Given the description of an element on the screen output the (x, y) to click on. 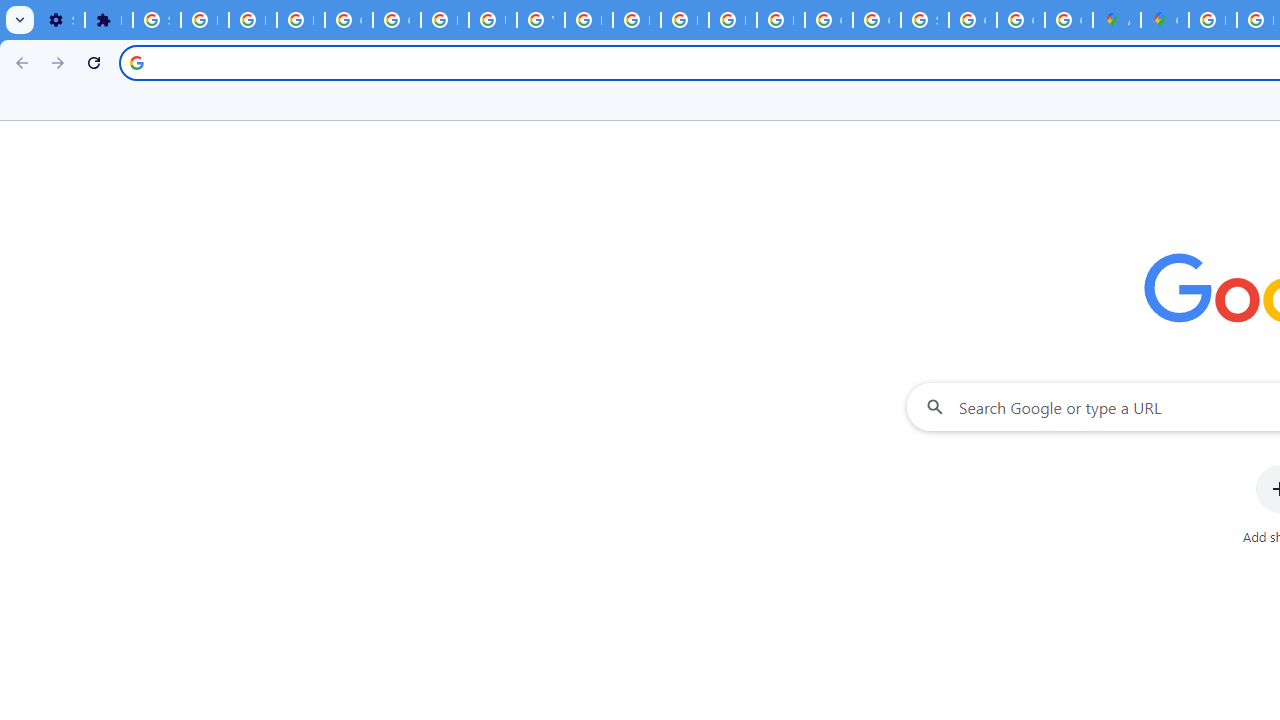
Privacy Help Center - Policies Help (636, 20)
Sign in - Google Accounts (156, 20)
Learn how to find your photos - Google Photos Help (252, 20)
Delete photos & videos - Computer - Google Photos Help (204, 20)
https://scholar.google.com/ (588, 20)
Create your Google Account (1068, 20)
Settings - On startup (60, 20)
